Given the description of an element on the screen output the (x, y) to click on. 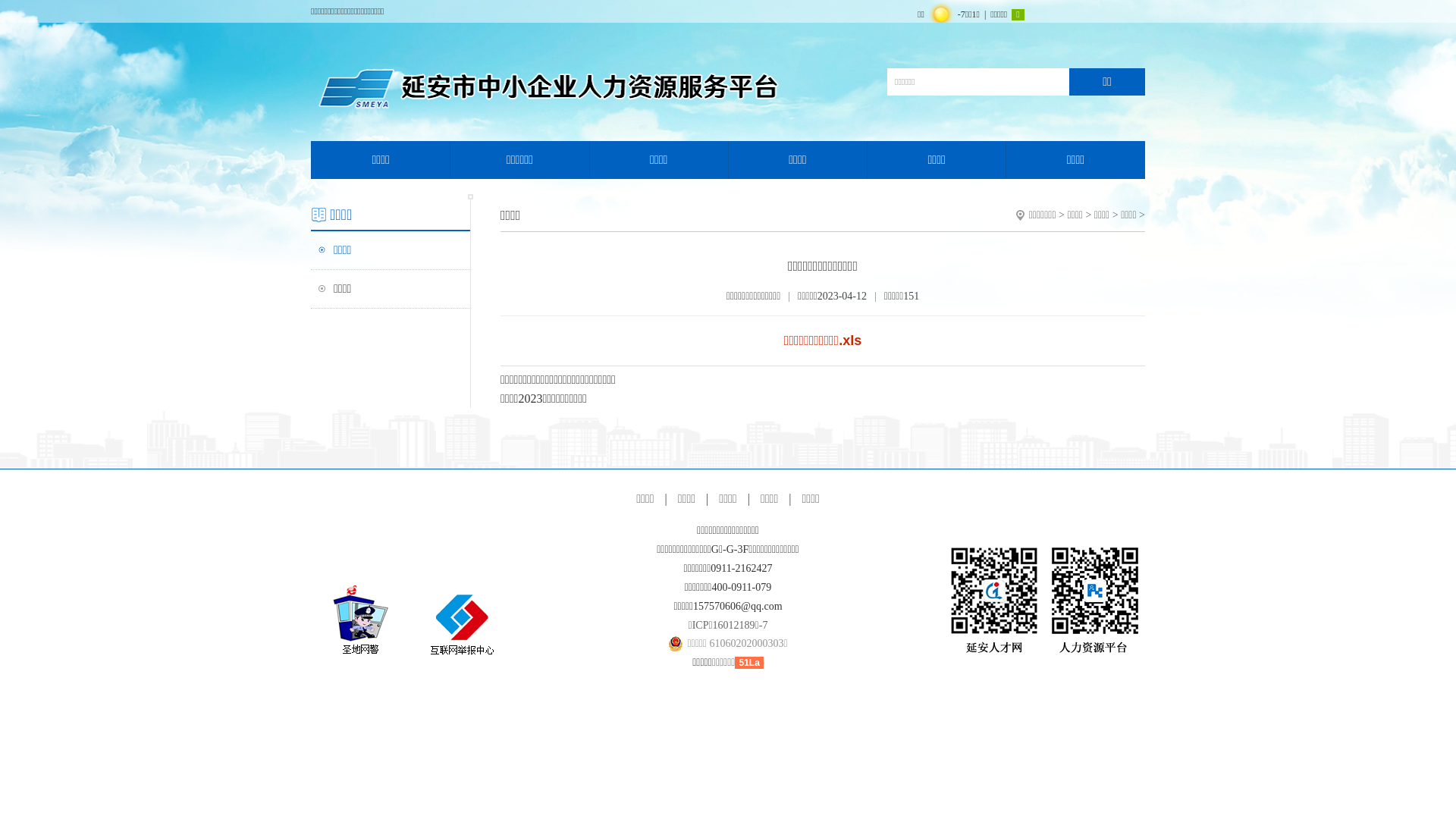
51La Element type: text (748, 662)
